Given the description of an element on the screen output the (x, y) to click on. 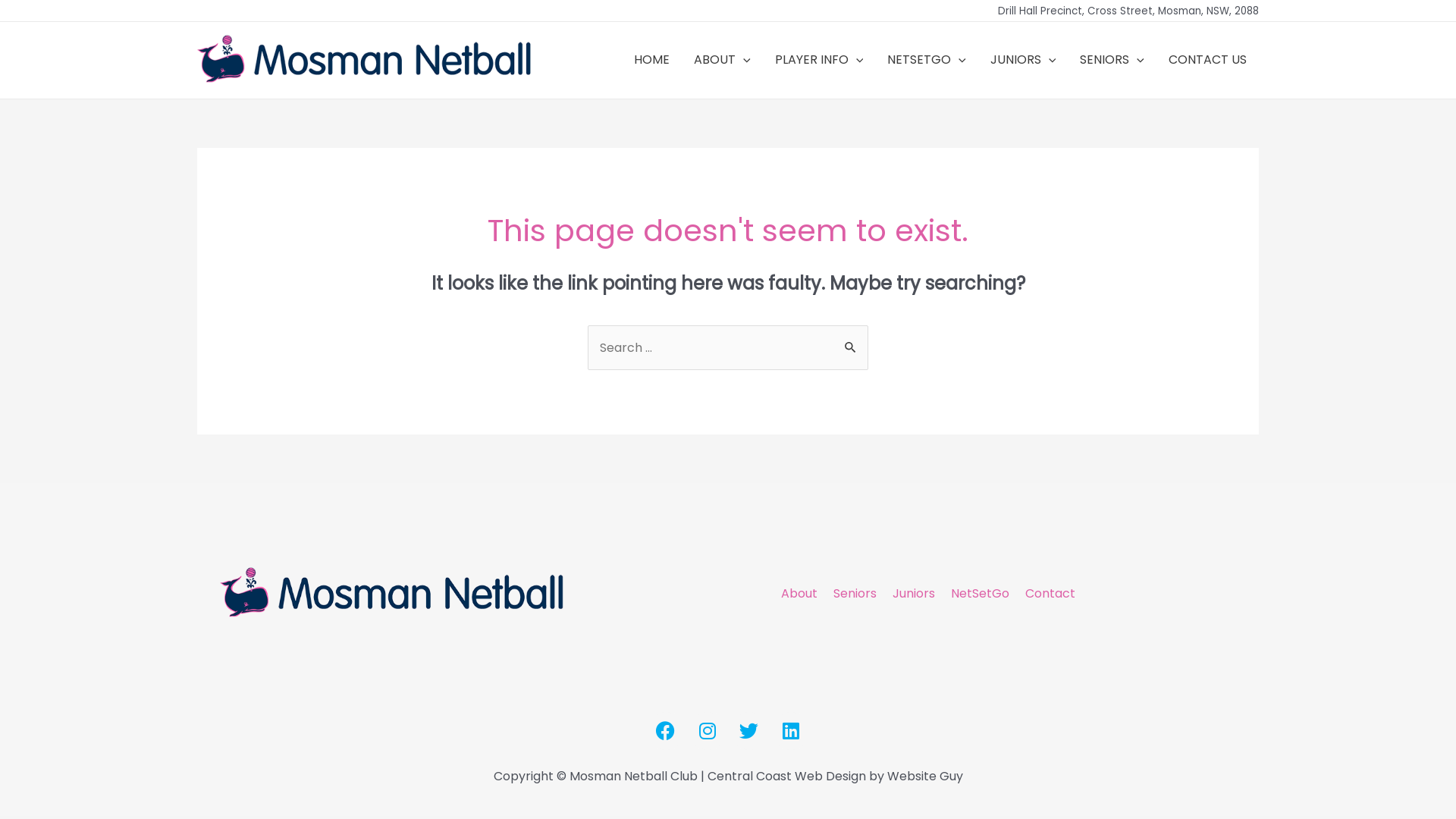
Twitter Element type: text (748, 730)
SENIORS Element type: text (1111, 59)
Juniors Element type: text (911, 593)
Search Element type: text (851, 341)
PLAYER INFO Element type: text (818, 59)
CONTACT US Element type: text (1207, 59)
Contact Element type: text (1048, 593)
Instagram Element type: text (707, 730)
HOME Element type: text (651, 59)
About Element type: text (797, 593)
Seniors Element type: text (852, 593)
NETSETGO Element type: text (926, 59)
JUNIORS Element type: text (1023, 59)
Facebook Element type: text (665, 730)
ABOUT Element type: text (721, 59)
Linkedin Element type: text (790, 730)
NetSetGo Element type: text (978, 593)
